Given the description of an element on the screen output the (x, y) to click on. 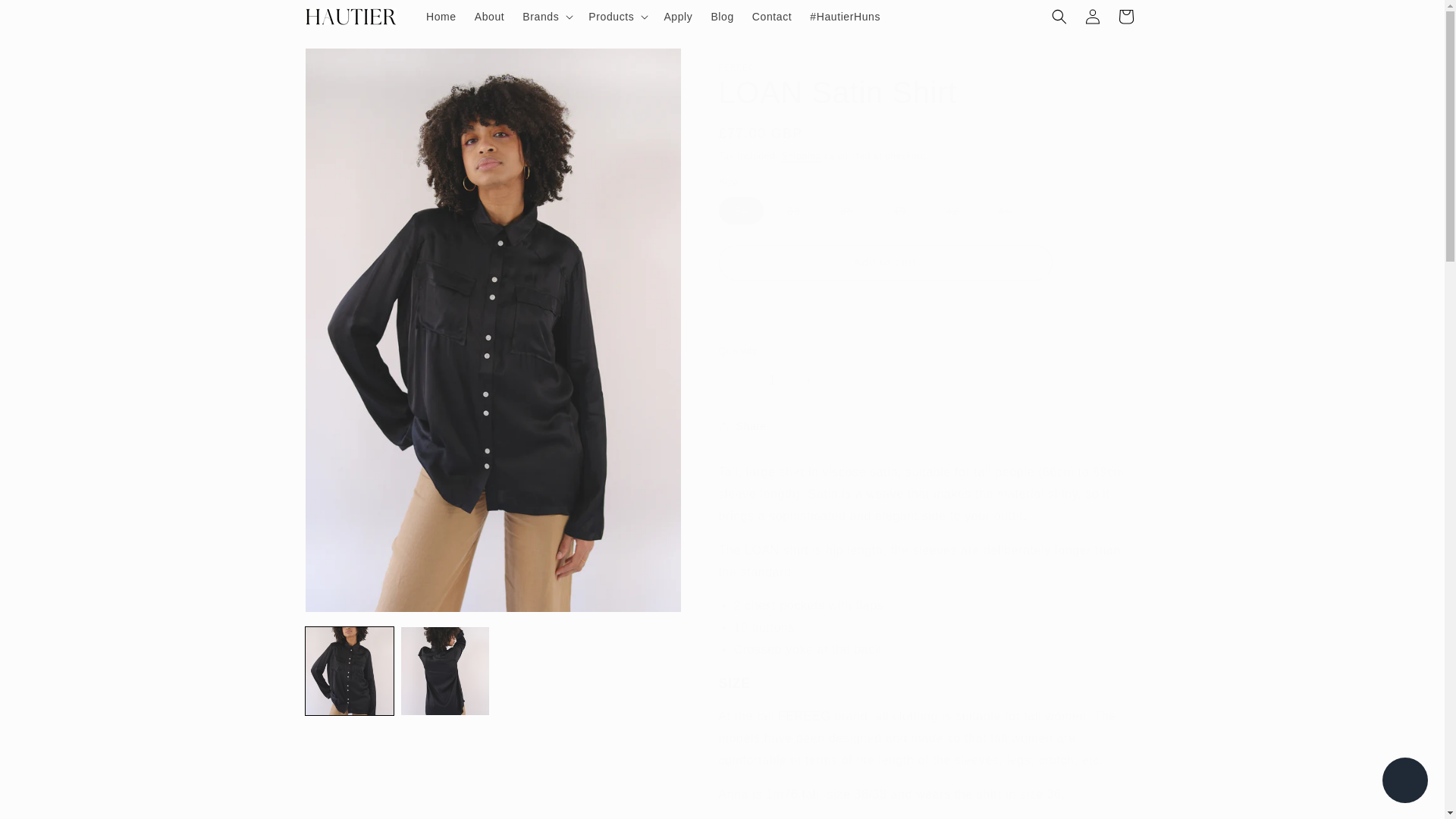
1 (773, 380)
Shopify online store chat (1404, 781)
Skip to content (45, 17)
